Given the description of an element on the screen output the (x, y) to click on. 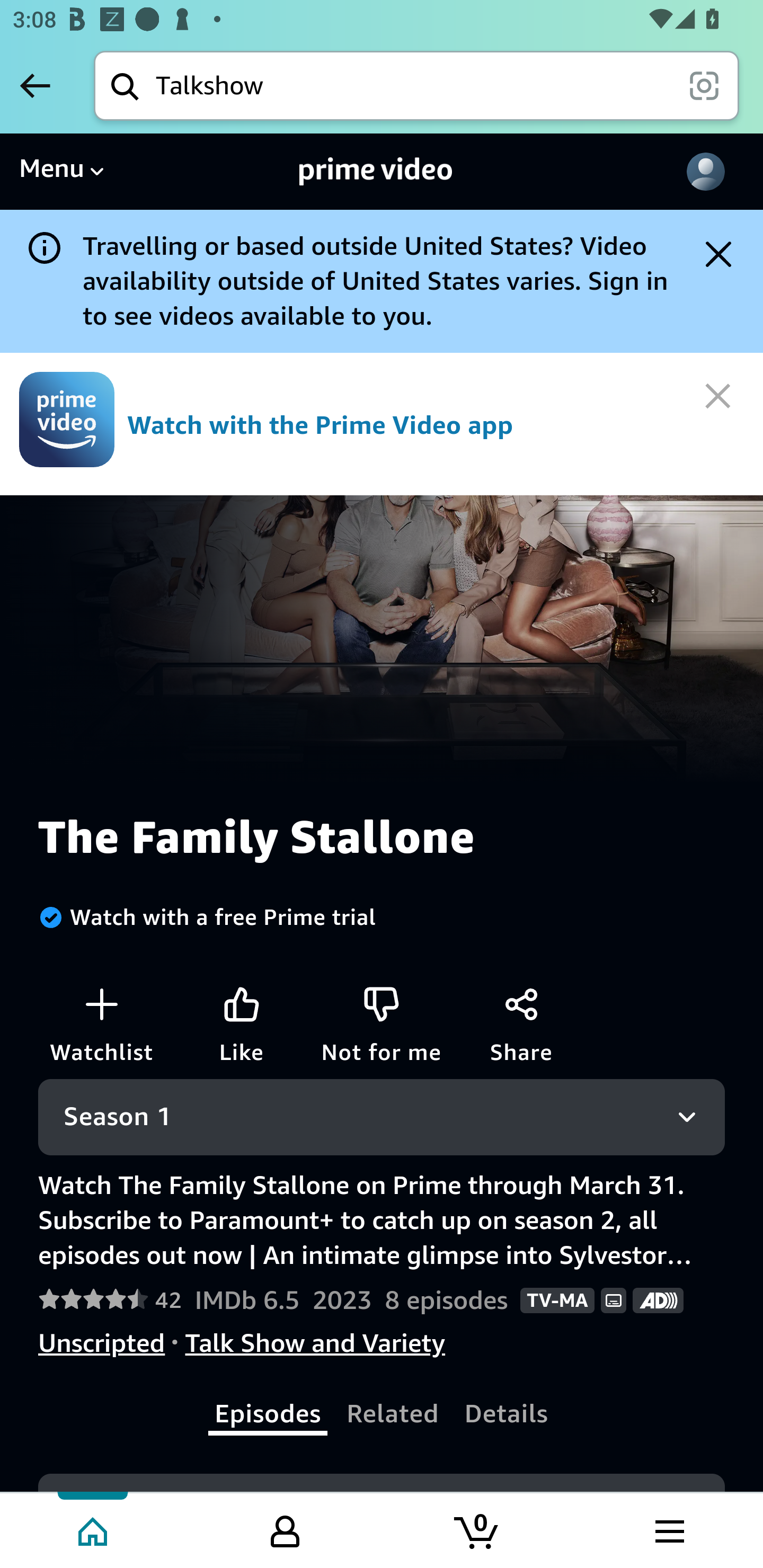
Back (35, 85)
Search Search Talkshow scan it (416, 85)
scan it (704, 85)
Menu (61, 171)
Prime Video (376, 171)
Dismiss button (718, 253)
   Watch with the Prime Video app (381, 423)
   (720, 393)
Add to Watchlist (100, 1003)
Like (241, 1003)
Not for me (381, 1003)
Share (521, 1003)
Unscripted (101, 1343)
Talk Show and Variety (315, 1343)
Episodes (268, 1414)
Related (393, 1414)
Details (505, 1414)
Home Tab 1 of 4 (94, 1529)
Your Amazon.com Tab 2 of 4 (285, 1529)
Cart 0 item Tab 3 of 4 0 (477, 1529)
Browse menu Tab 4 of 4 (668, 1529)
